Given the description of an element on the screen output the (x, y) to click on. 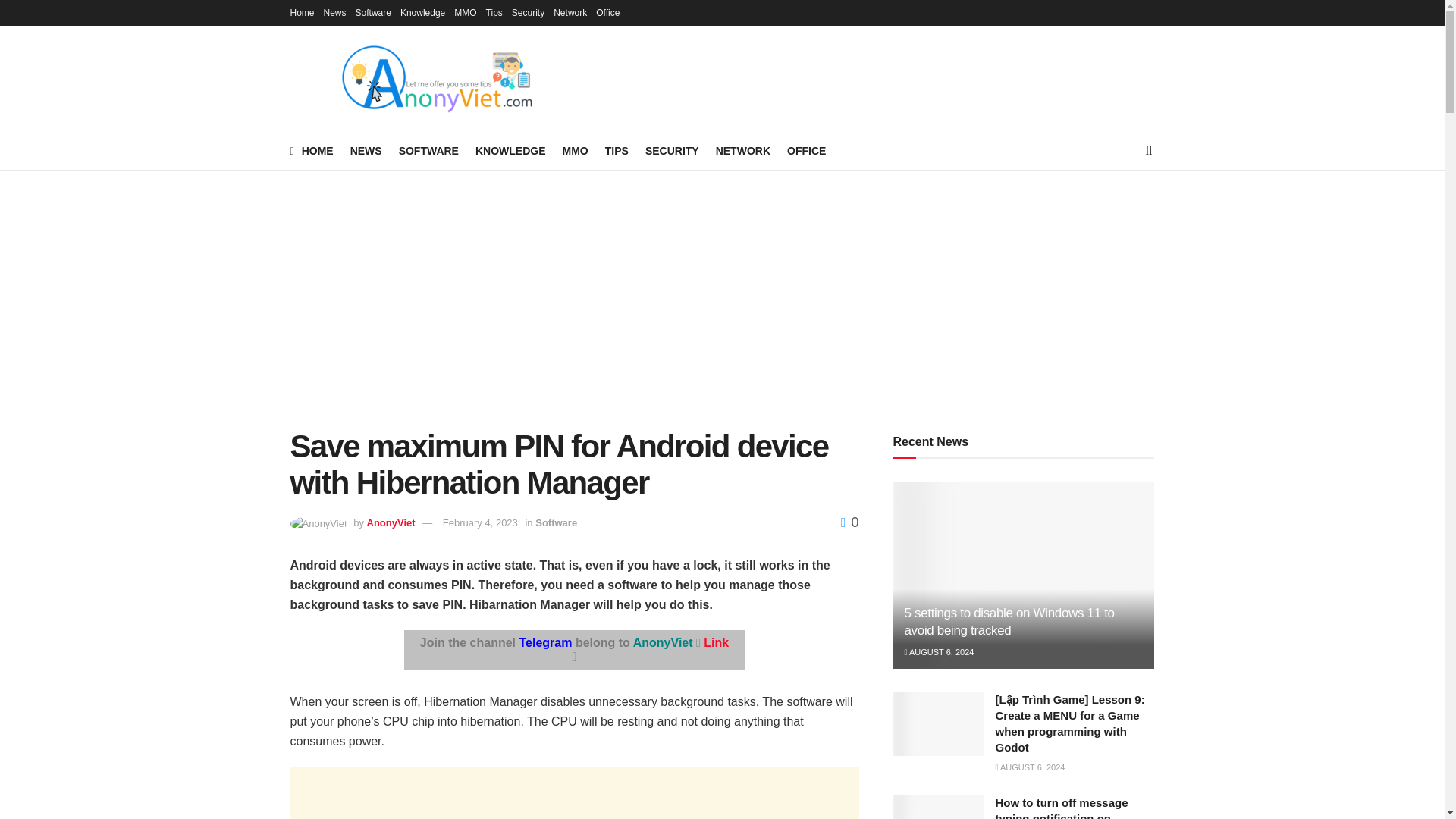
Knowledge (422, 12)
MMO (575, 150)
Home (301, 12)
Office (607, 12)
0 (850, 522)
TIPS (616, 150)
SOFTWARE (428, 150)
AnonyViet (390, 522)
Software (373, 12)
OFFICE (806, 150)
